Given the description of an element on the screen output the (x, y) to click on. 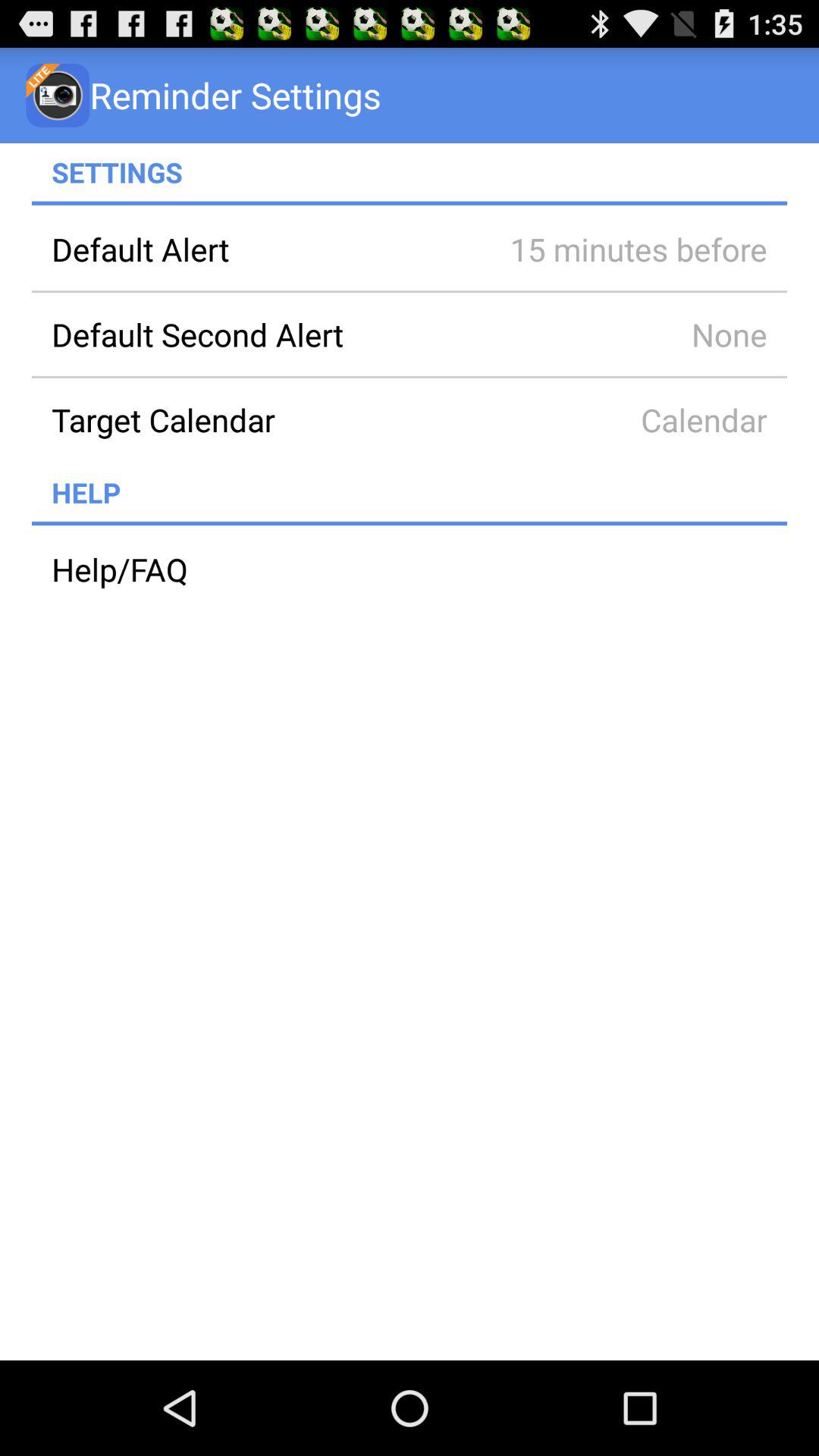
launch the item above the help item (259, 419)
